Given the description of an element on the screen output the (x, y) to click on. 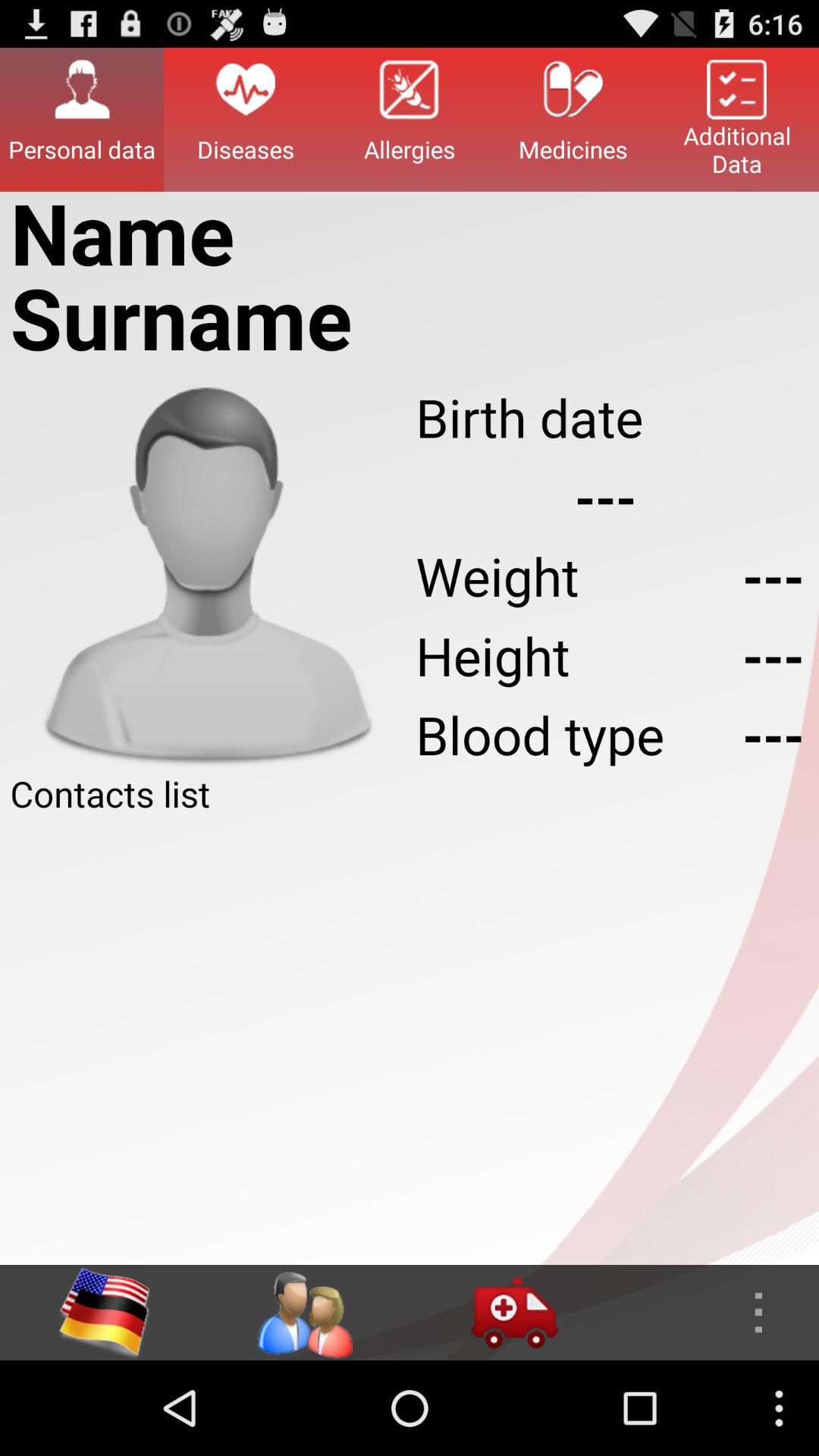
choose item next to diseases item (81, 119)
